Given the description of an element on the screen output the (x, y) to click on. 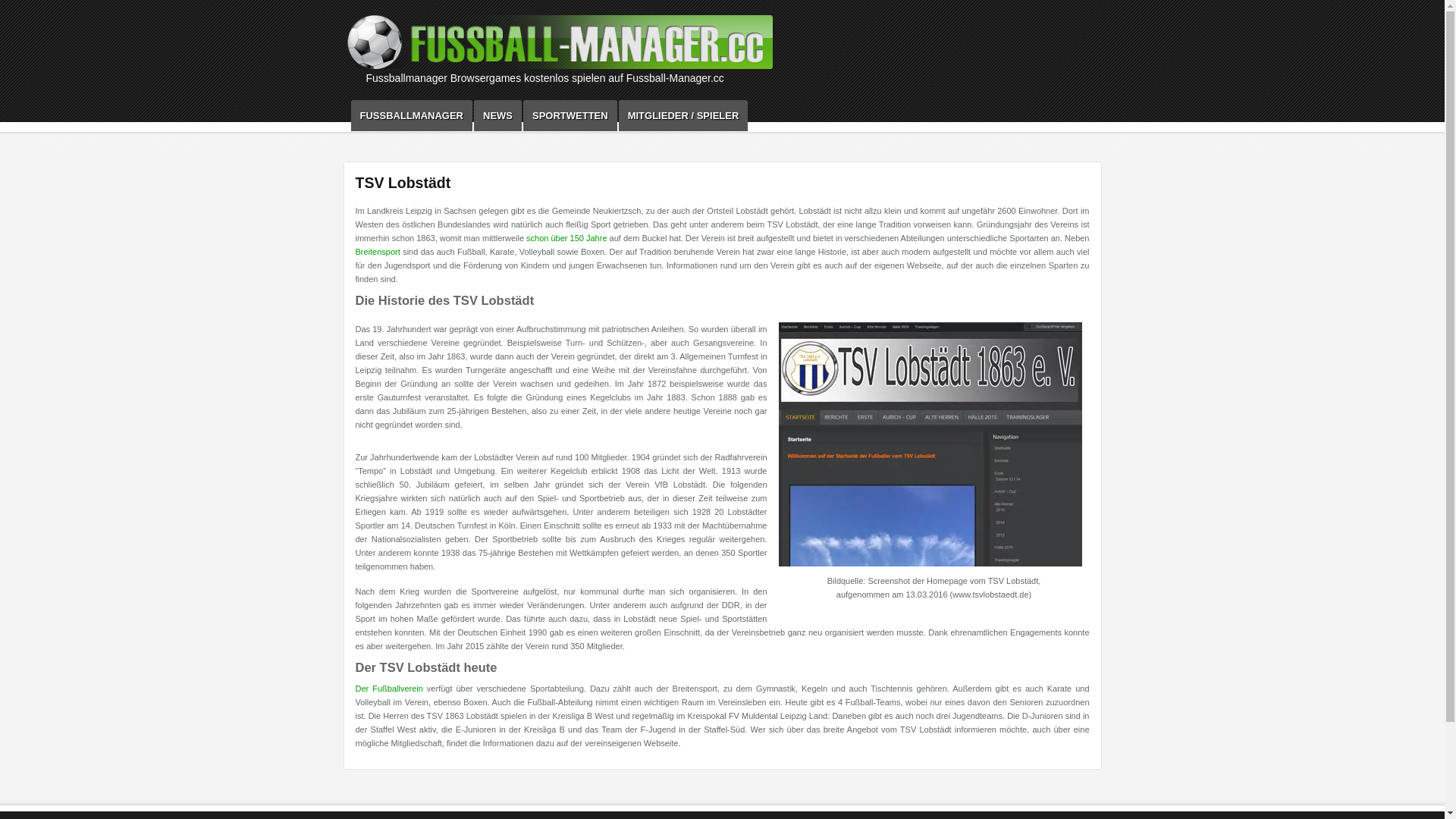
SPORTWETTEN Element type: text (570, 115)
MITGLIEDER / SPIELER Element type: text (683, 115)
NEWS Element type: text (497, 115)
FUSSBALLMANAGER Element type: text (411, 115)
Breitensport Element type: text (376, 251)
